Given the description of an element on the screen output the (x, y) to click on. 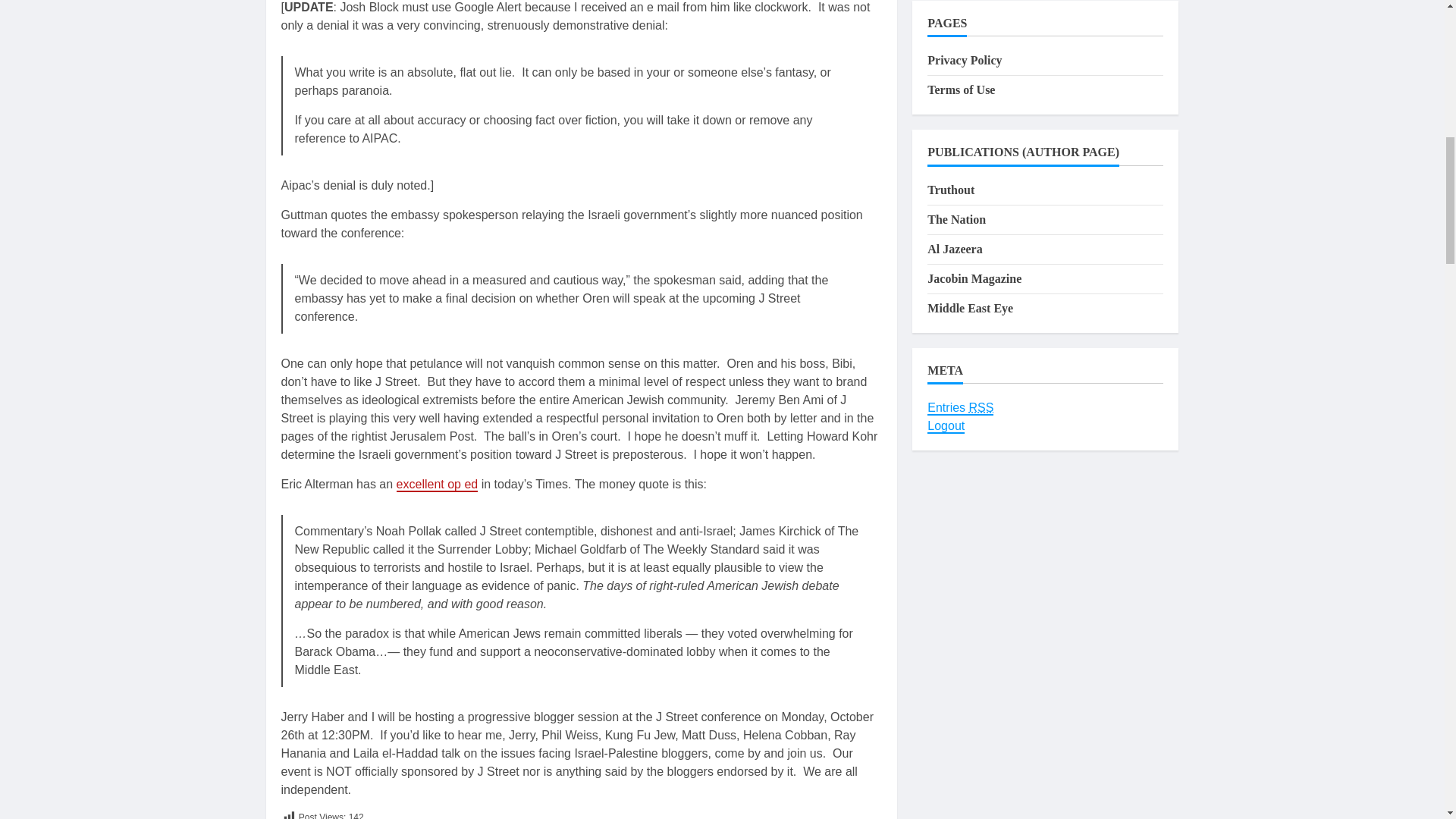
Really Simple Syndication (981, 407)
excellent op ed (437, 484)
